Given the description of an element on the screen output the (x, y) to click on. 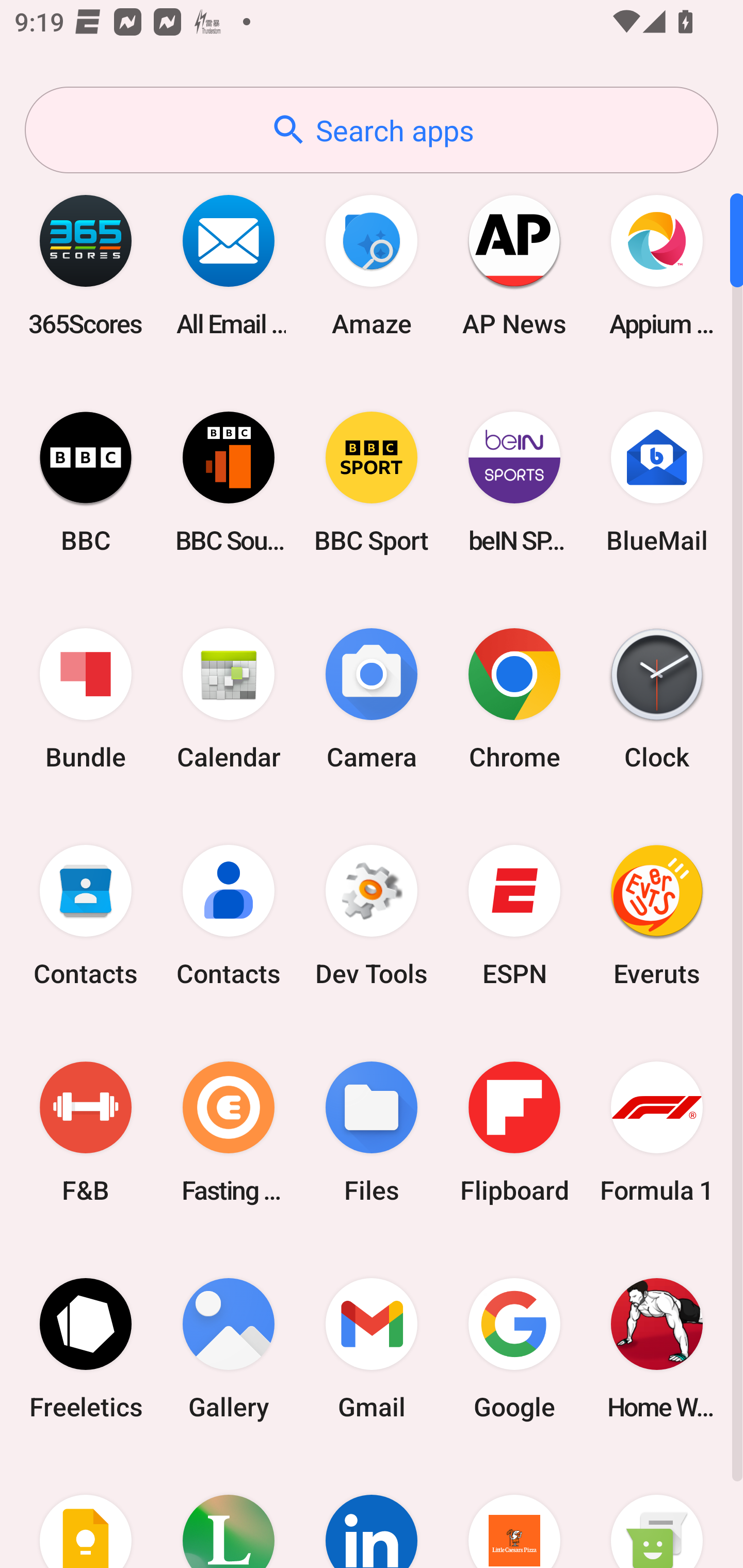
  Search apps (371, 130)
365Scores (85, 264)
All Email Connect (228, 264)
Amaze (371, 264)
AP News (514, 264)
Appium Settings (656, 264)
BBC (85, 482)
BBC Sounds (228, 482)
BBC Sport (371, 482)
beIN SPORTS (514, 482)
BlueMail (656, 482)
Bundle (85, 699)
Calendar (228, 699)
Camera (371, 699)
Chrome (514, 699)
Clock (656, 699)
Contacts (85, 915)
Contacts (228, 915)
Dev Tools (371, 915)
ESPN (514, 915)
Everuts (656, 915)
F&B (85, 1131)
Fasting Coach (228, 1131)
Files (371, 1131)
Flipboard (514, 1131)
Formula 1 (656, 1131)
Freeletics (85, 1348)
Gallery (228, 1348)
Gmail (371, 1348)
Google (514, 1348)
Home Workout (656, 1348)
